Given the description of an element on the screen output the (x, y) to click on. 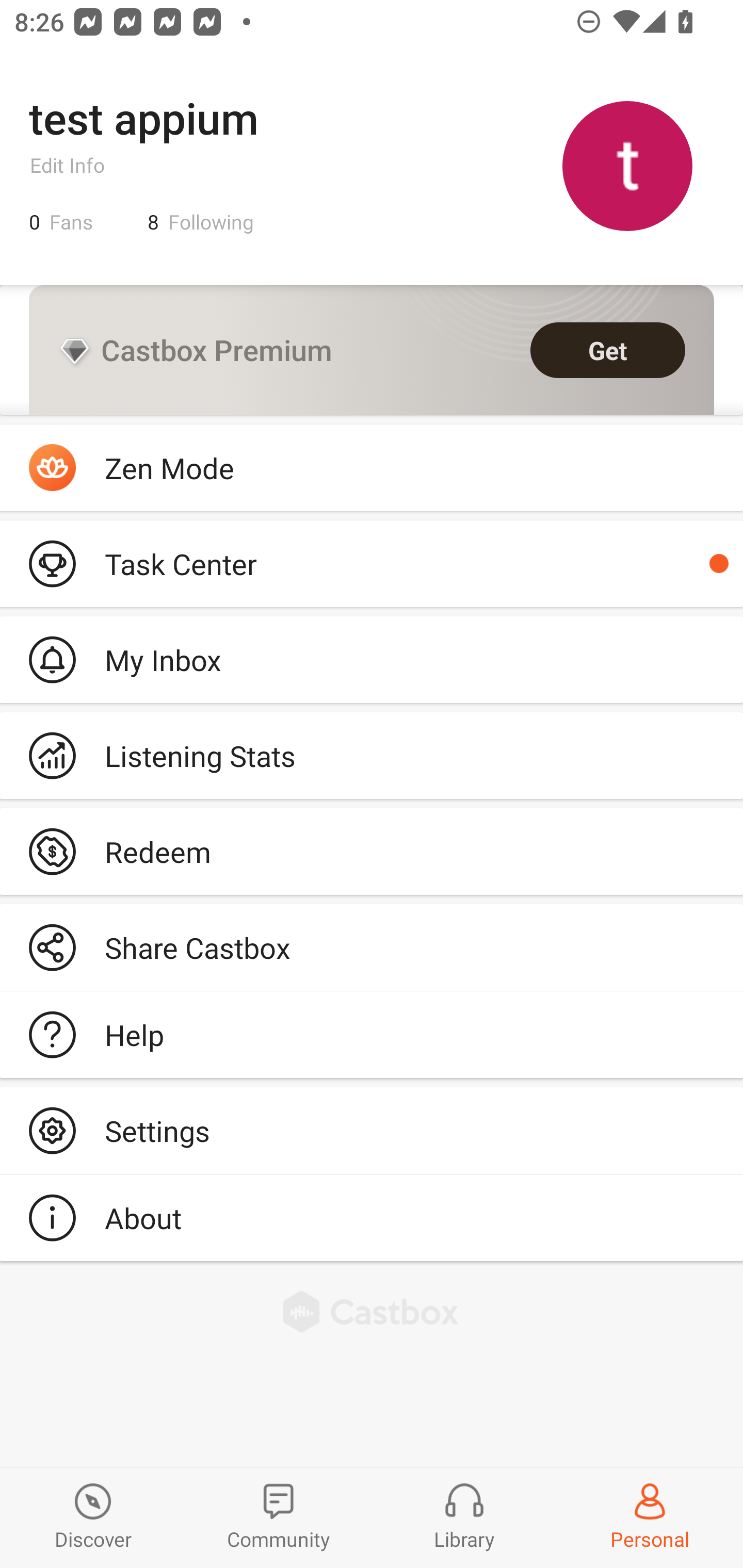
test appium Edit Info 0 Fans 8 Following (371, 165)
0 Fans (60, 221)
8 Following (200, 221)
Castbox Premium Get (371, 350)
Get (607, 350)
Zen Mode (371, 467)
Podcaster  Task Center (371, 563)
 My Inbox (371, 659)
 Listening Stats (371, 755)
 Redeem (371, 851)
 Share Castbox (371, 947)
 Help (371, 1034)
 Settings (371, 1130)
 About (371, 1217)
Discover (92, 1517)
Community (278, 1517)
Library (464, 1517)
Profiles and Settings Personal (650, 1517)
